Given the description of an element on the screen output the (x, y) to click on. 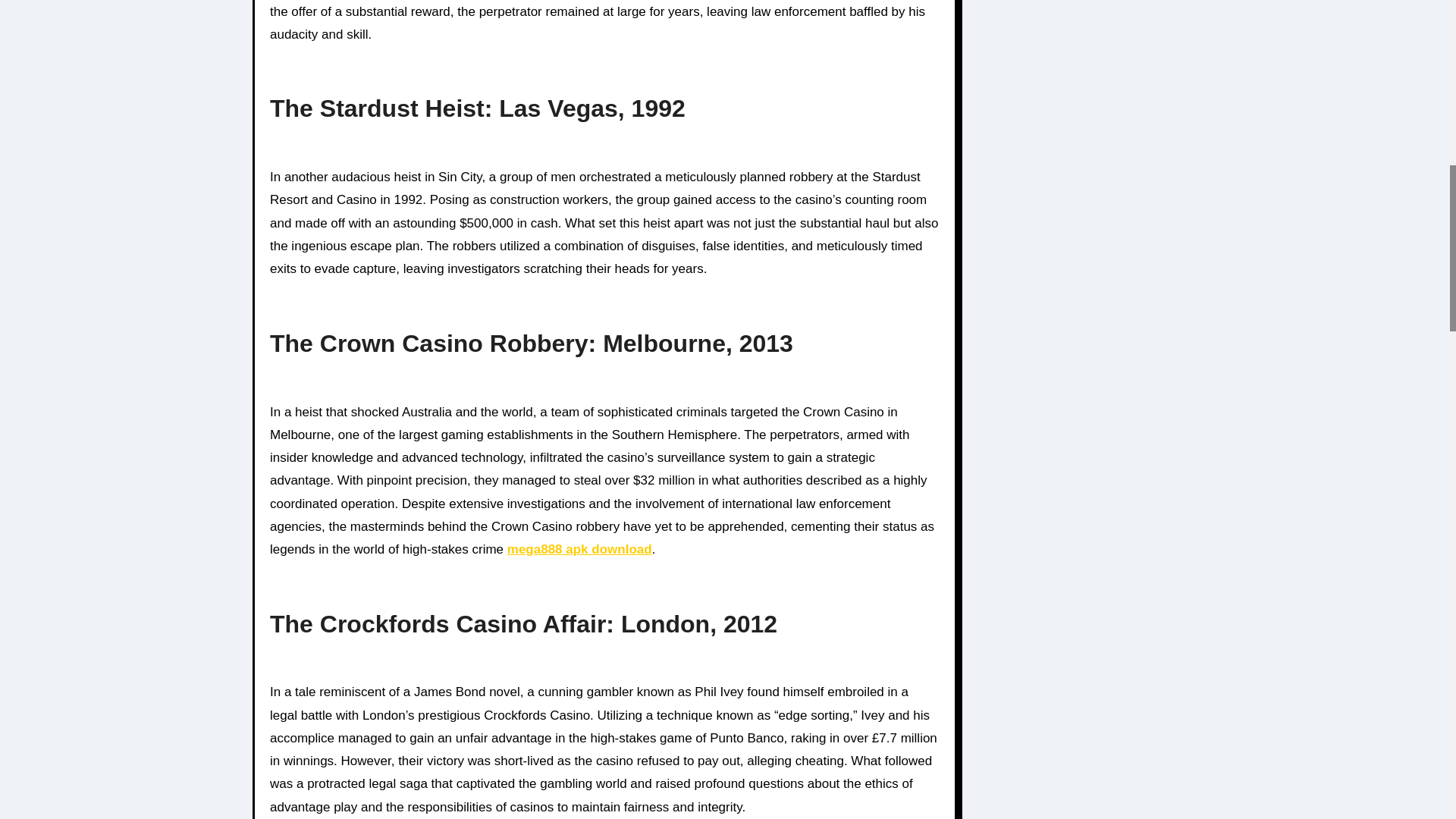
mega888 apk download (579, 549)
